Given the description of an element on the screen output the (x, y) to click on. 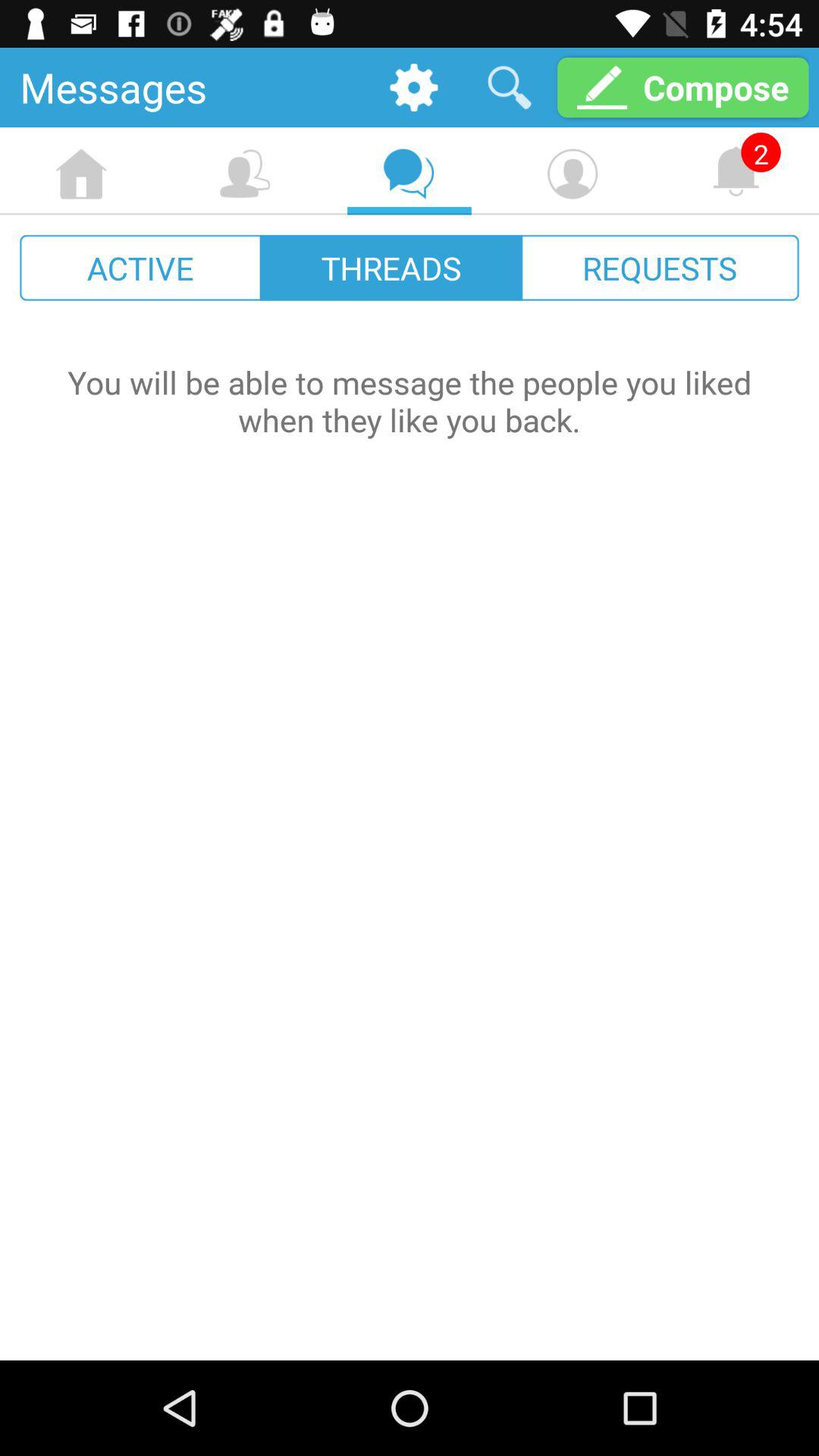
select icon to the right of the threads (659, 267)
